Given the description of an element on the screen output the (x, y) to click on. 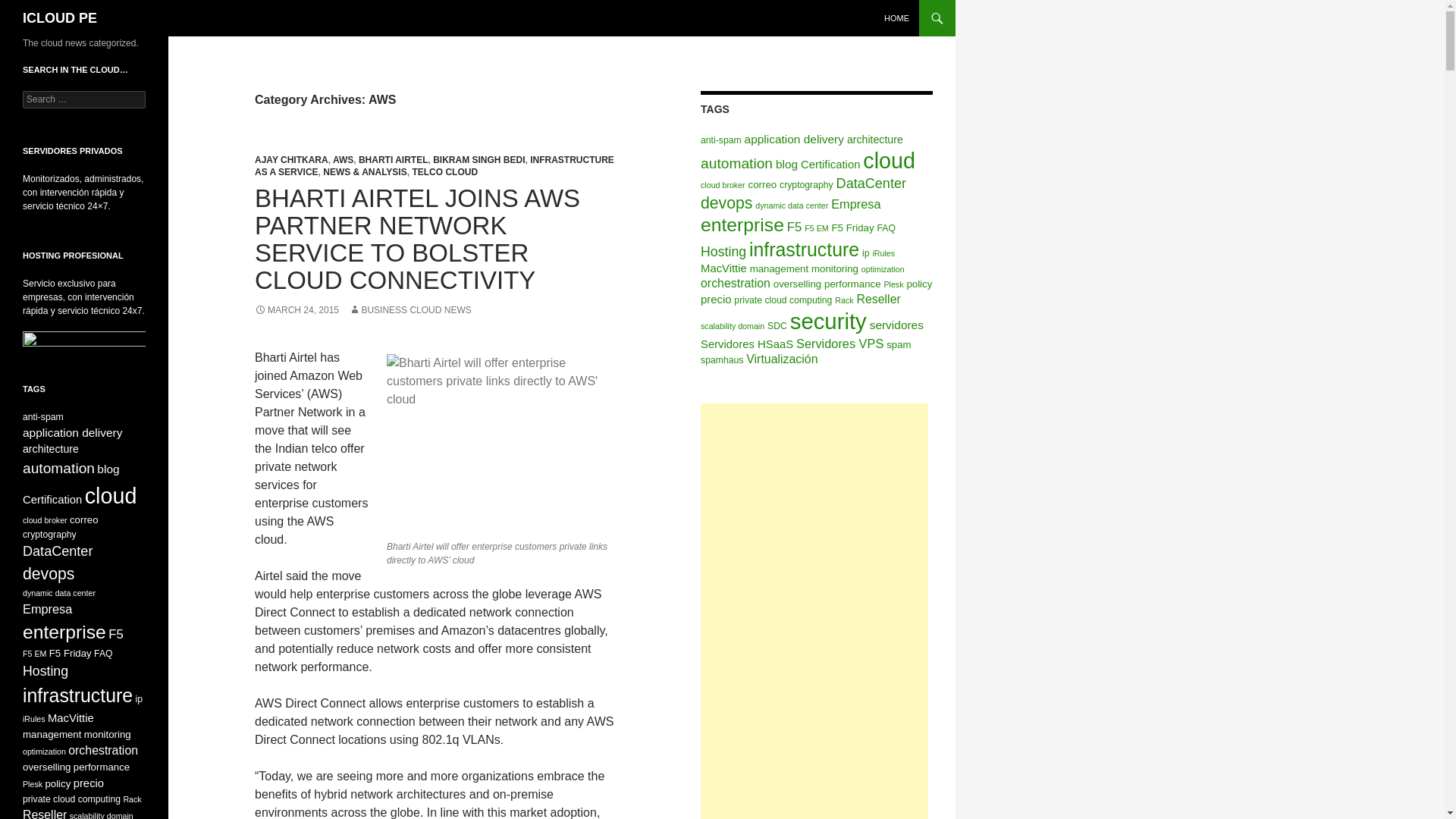
INFRASTRUCTURE AS A SERVICE (434, 165)
MARCH 24, 2015 (296, 309)
AJAY CHITKARA (291, 159)
TELCO CLOUD (444, 172)
HOME (896, 18)
BUSINESS CLOUD NEWS (409, 309)
AWS (343, 159)
BIKRAM SINGH BEDI (478, 159)
BHARTI AIRTEL (393, 159)
